Given the description of an element on the screen output the (x, y) to click on. 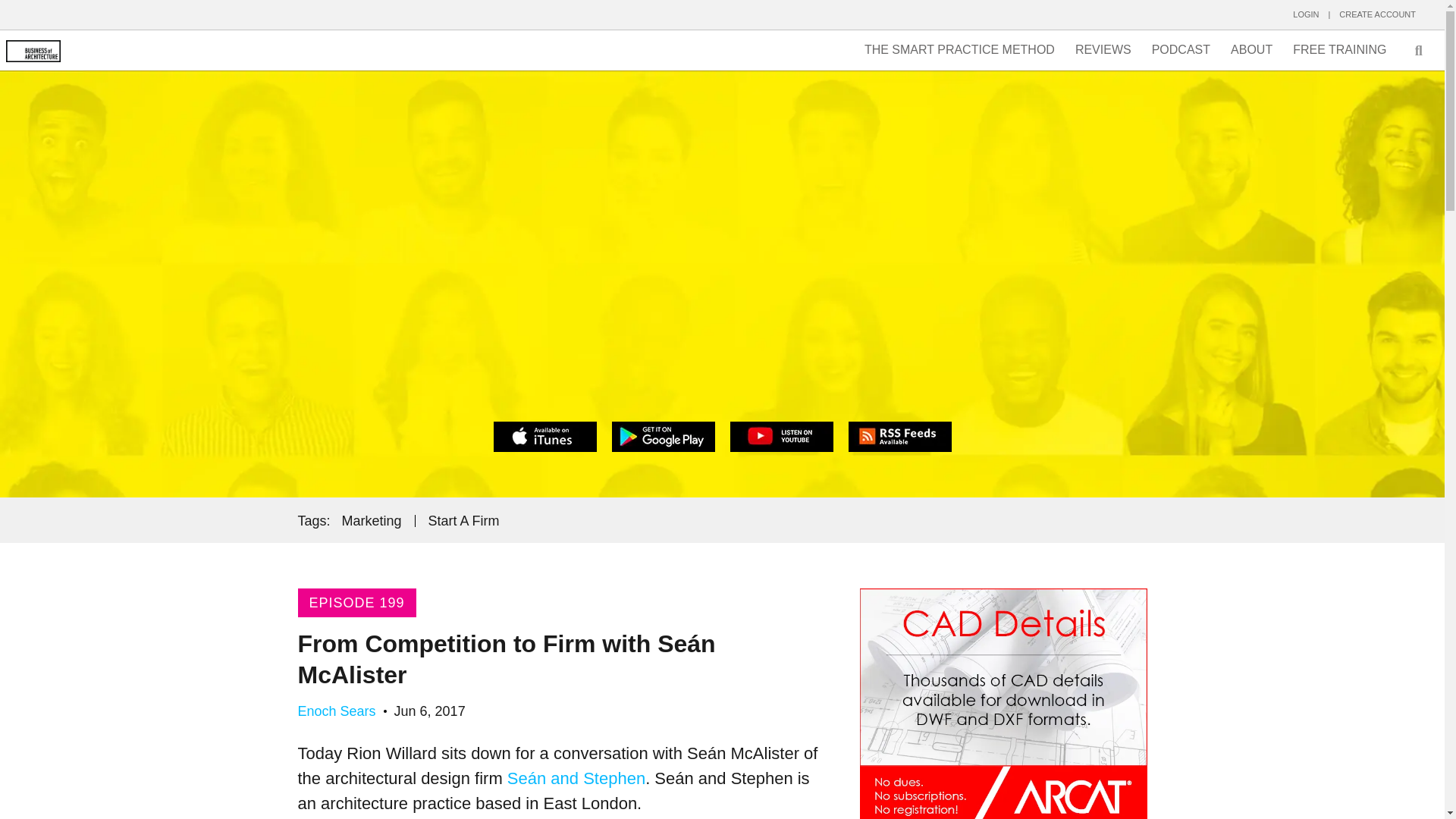
ABOUT (1252, 49)
THE SMART PRACTICE METHOD (959, 49)
CREATE ACCOUNT (1378, 14)
PODCAST (1180, 49)
LOGIN (1305, 14)
FREE TRAINING (1339, 49)
REVIEWS (1103, 49)
